Given the description of an element on the screen output the (x, y) to click on. 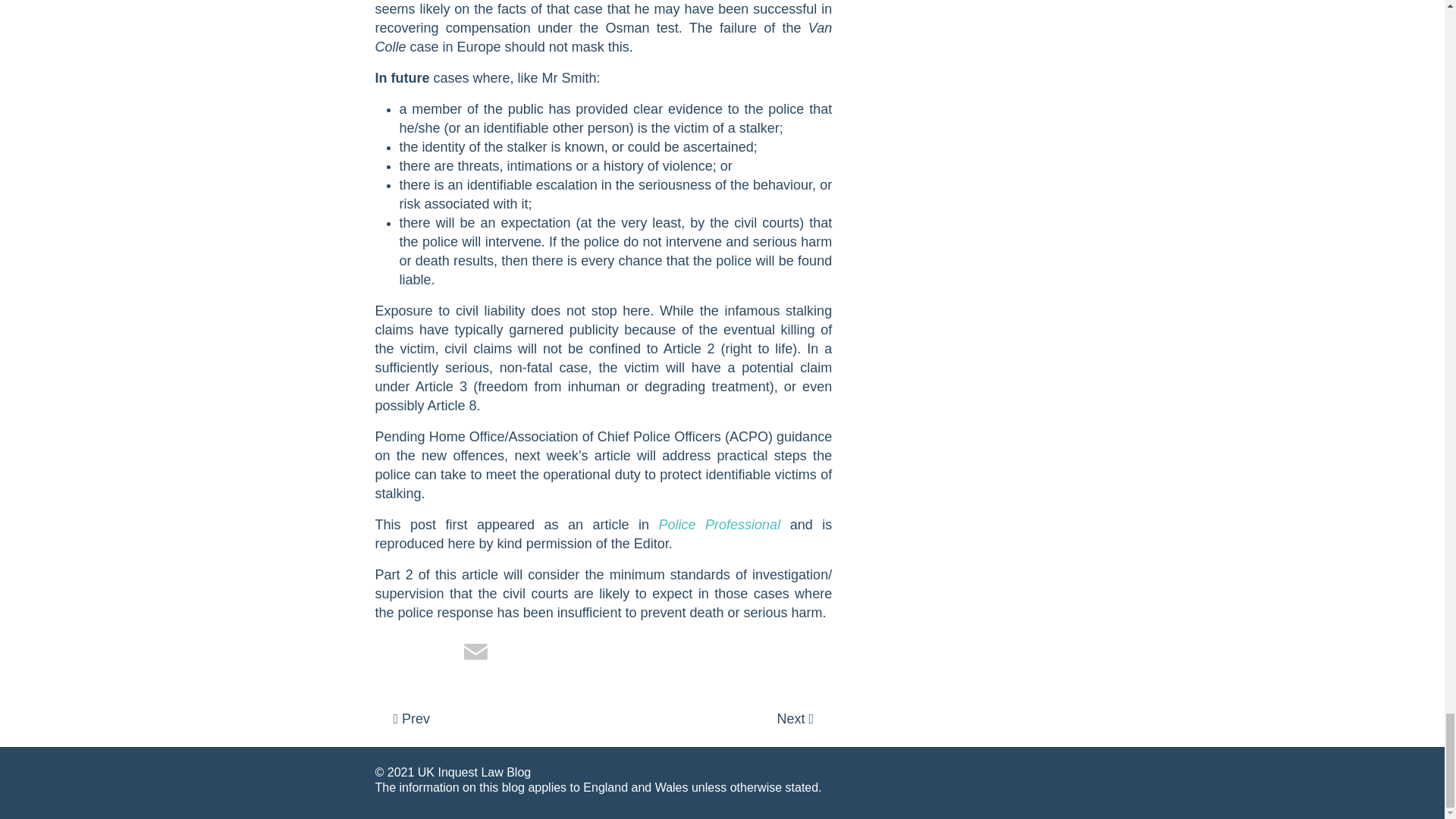
LinkedIn (434, 654)
Next  (795, 718)
Email (474, 654)
X (394, 654)
X (394, 654)
Email (474, 654)
 Prev (411, 718)
LinkedIn (434, 654)
Police Professional (719, 524)
